Given the description of an element on the screen output the (x, y) to click on. 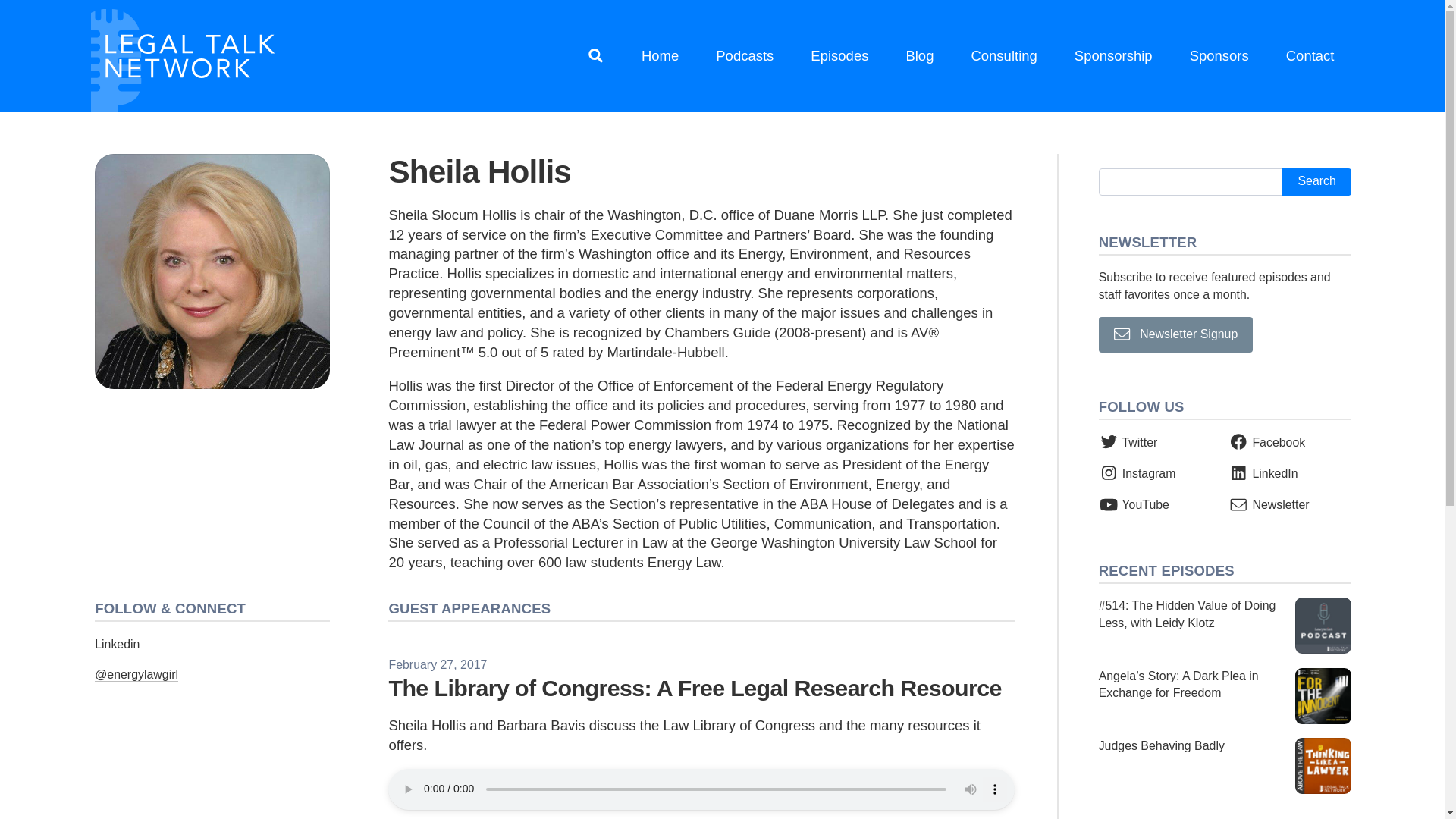
The Library of Congress: A Free Legal Research Resource (694, 687)
Consulting (1003, 56)
Search (1316, 181)
Newsletter (1268, 504)
Search (1316, 181)
LinkedIn (1262, 472)
Judges Behaving Badly (1225, 765)
Sponsorship (1113, 56)
Instagram (1137, 472)
Twitter (1128, 441)
  Newsletter Signup (1176, 334)
Linkedin (116, 644)
Sheila Hollis (212, 271)
YouTube (1134, 504)
Facebook (1266, 441)
